Given the description of an element on the screen output the (x, y) to click on. 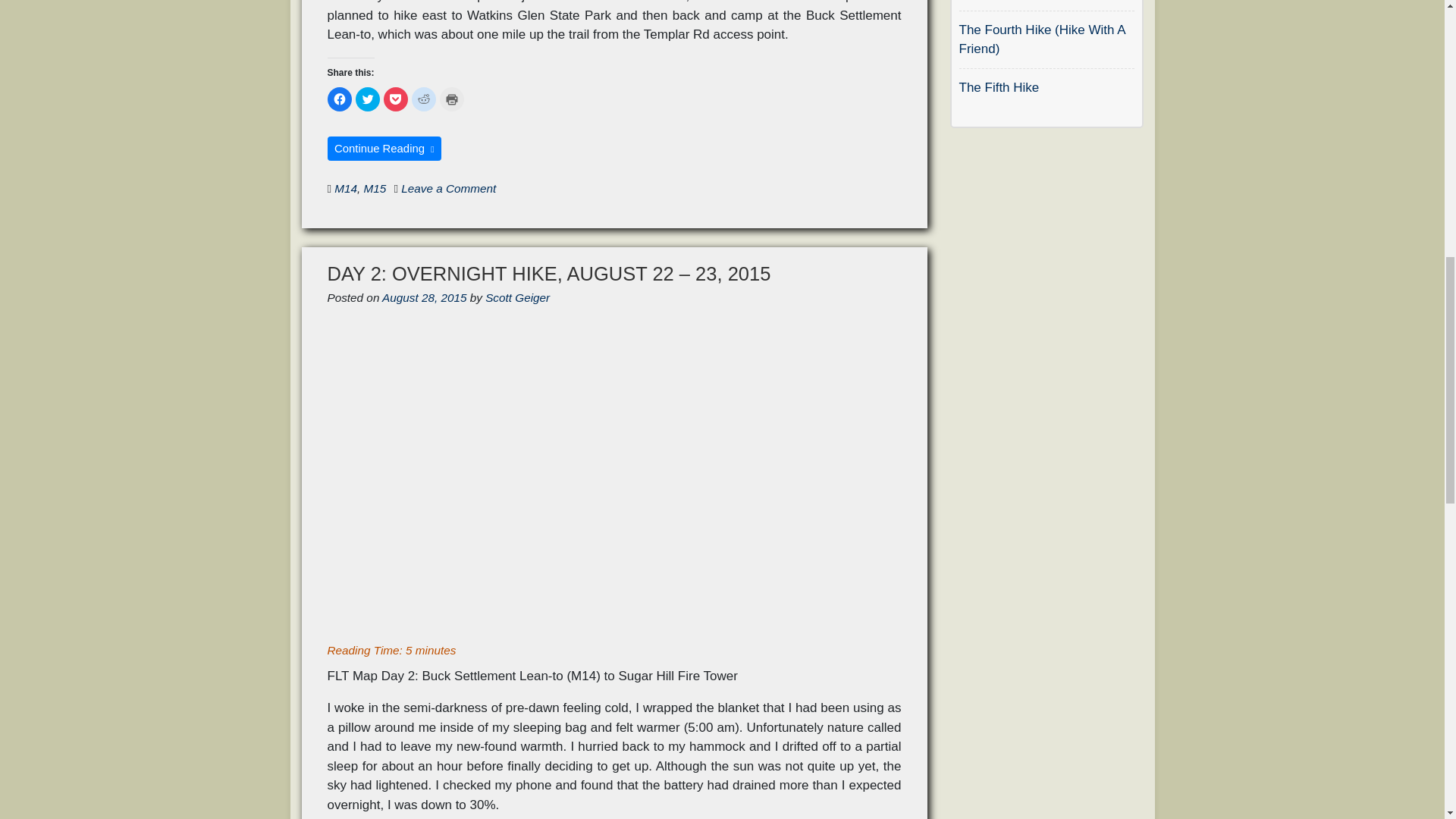
M14 (345, 187)
Click to share on Facebook (339, 98)
August 28, 2015 (423, 297)
M15 (375, 187)
Click to share on Pocket (395, 98)
Click to share on Twitter (366, 98)
Scott Geiger (517, 297)
Click to print (451, 98)
Comments (395, 188)
Tags (329, 188)
Click to share on Reddit (422, 98)
Continue Reading (384, 148)
